Given the description of an element on the screen output the (x, y) to click on. 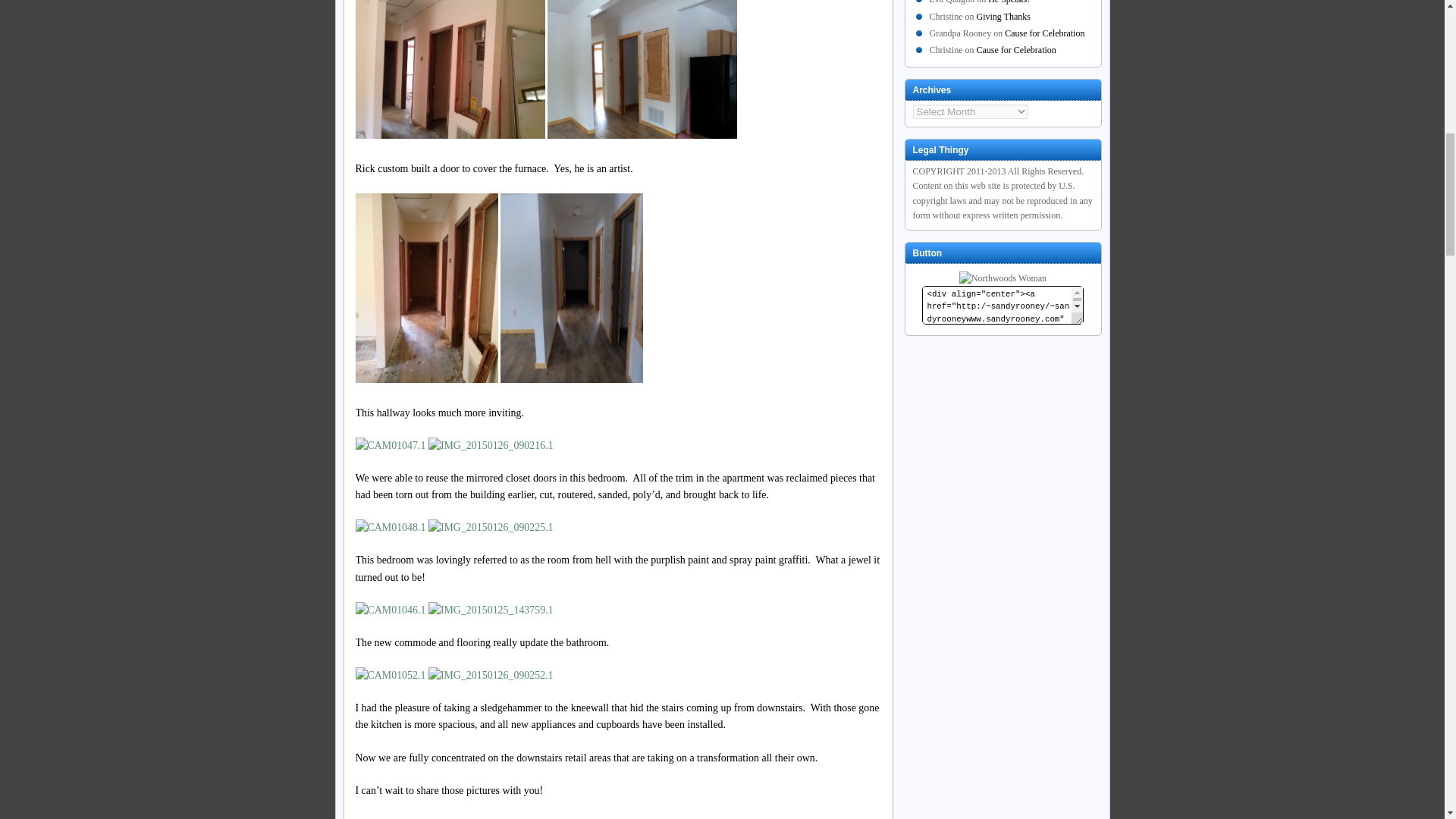
Northwoods Woman (1002, 278)
